Given the description of an element on the screen output the (x, y) to click on. 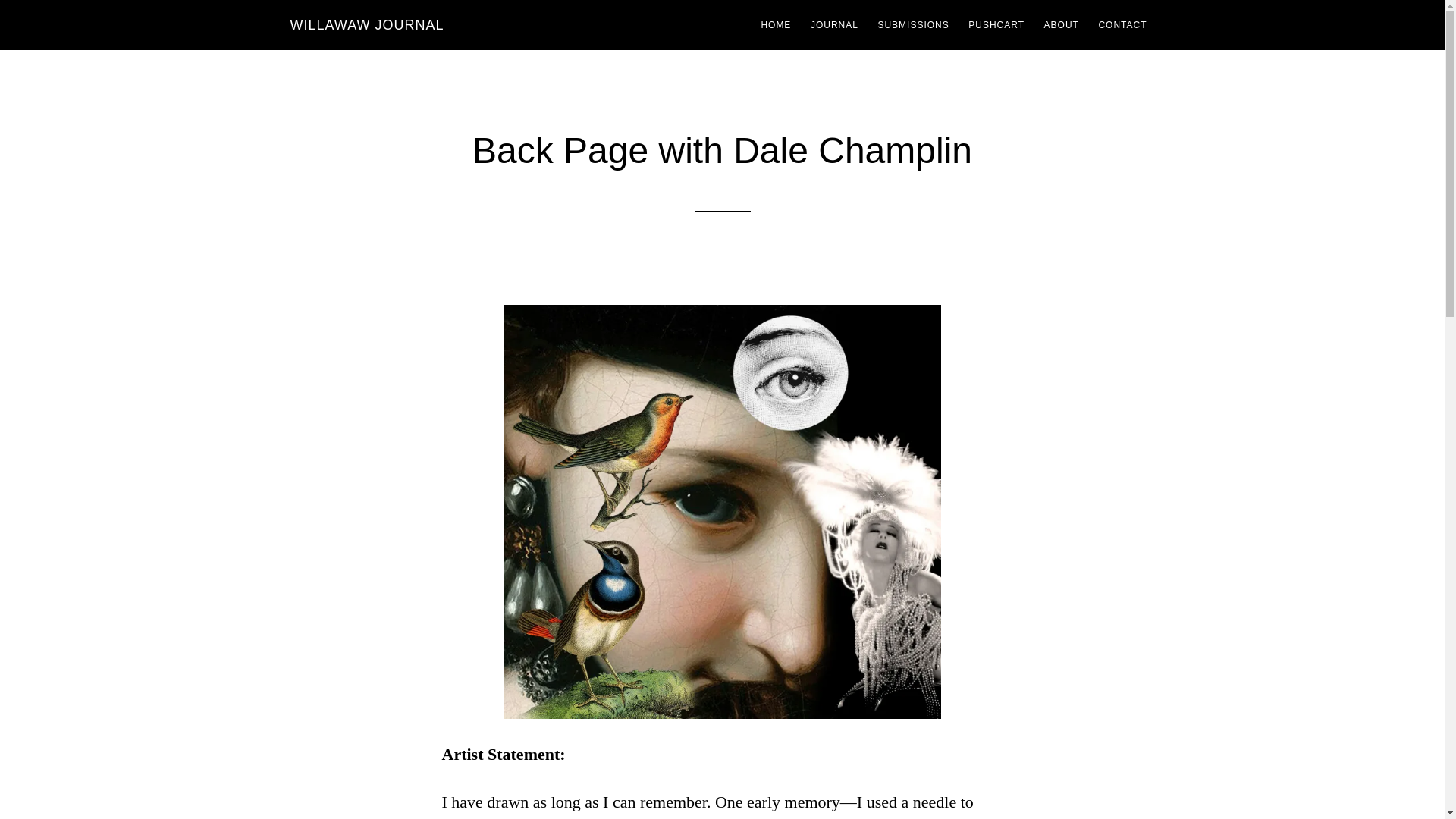
ABOUT (1061, 24)
PUSHCART (996, 24)
JOURNAL (834, 24)
HOME (774, 24)
SUBMISSIONS (912, 24)
CONTACT (1122, 24)
WILLAWAW JOURNAL (366, 24)
